Given the description of an element on the screen output the (x, y) to click on. 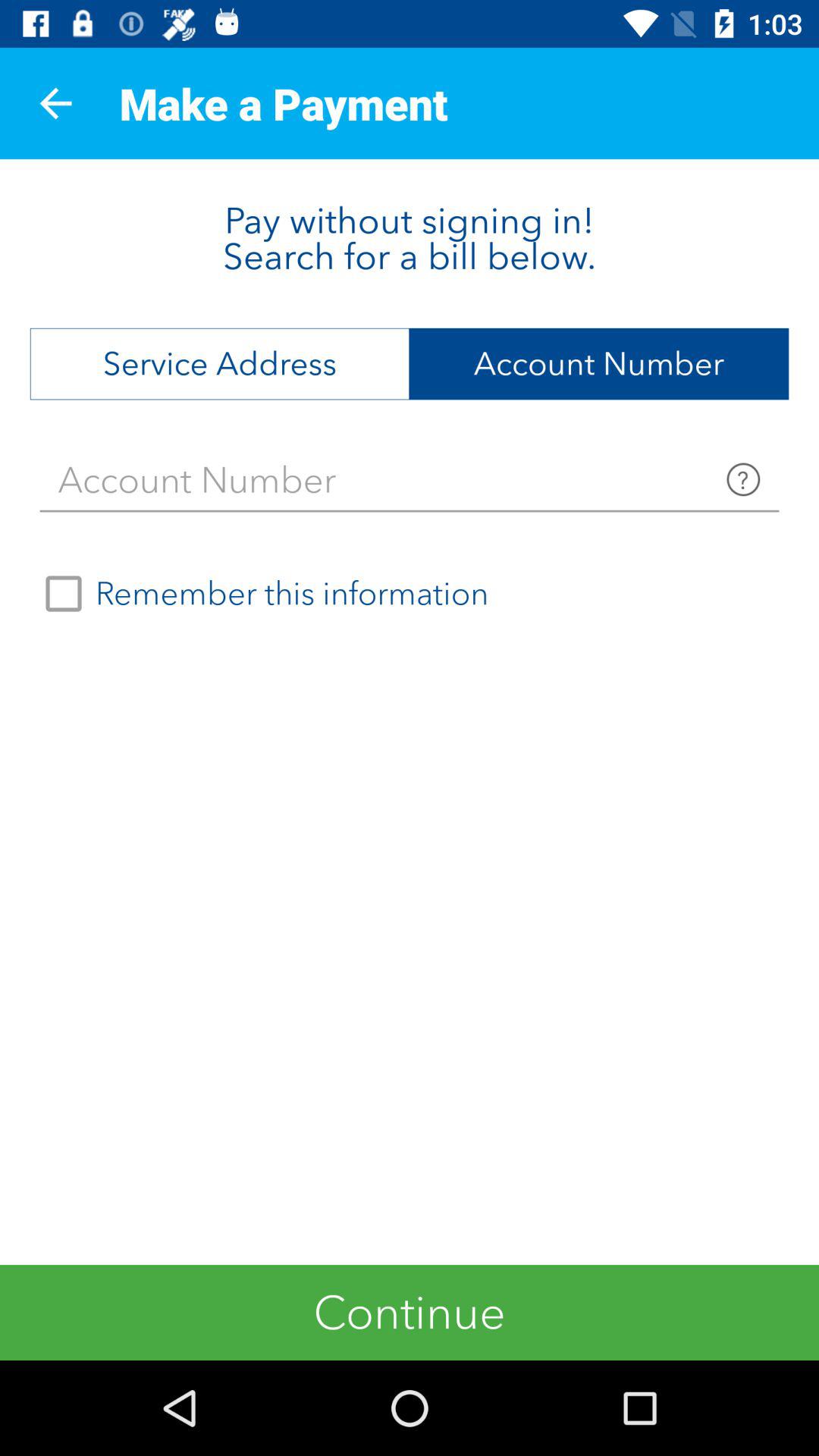
tap the icon to the right of the service address (598, 363)
